Given the description of an element on the screen output the (x, y) to click on. 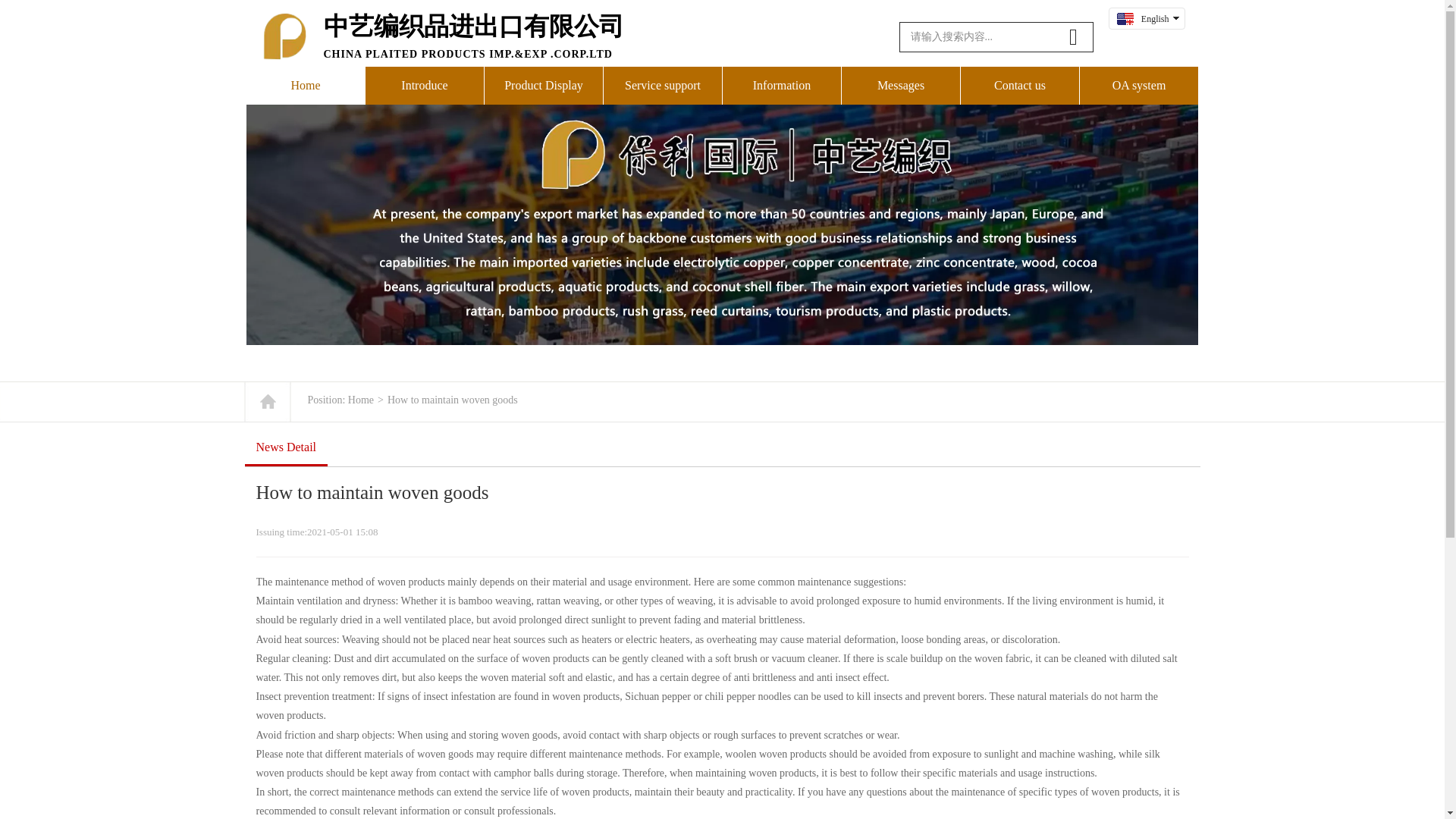
Product Display (543, 85)
Home (304, 85)
Home (360, 399)
  English (1142, 18)
Information (781, 85)
English (1155, 18)
Contact us (1019, 85)
Service support (662, 85)
Introduce (424, 85)
